Given the description of an element on the screen output the (x, y) to click on. 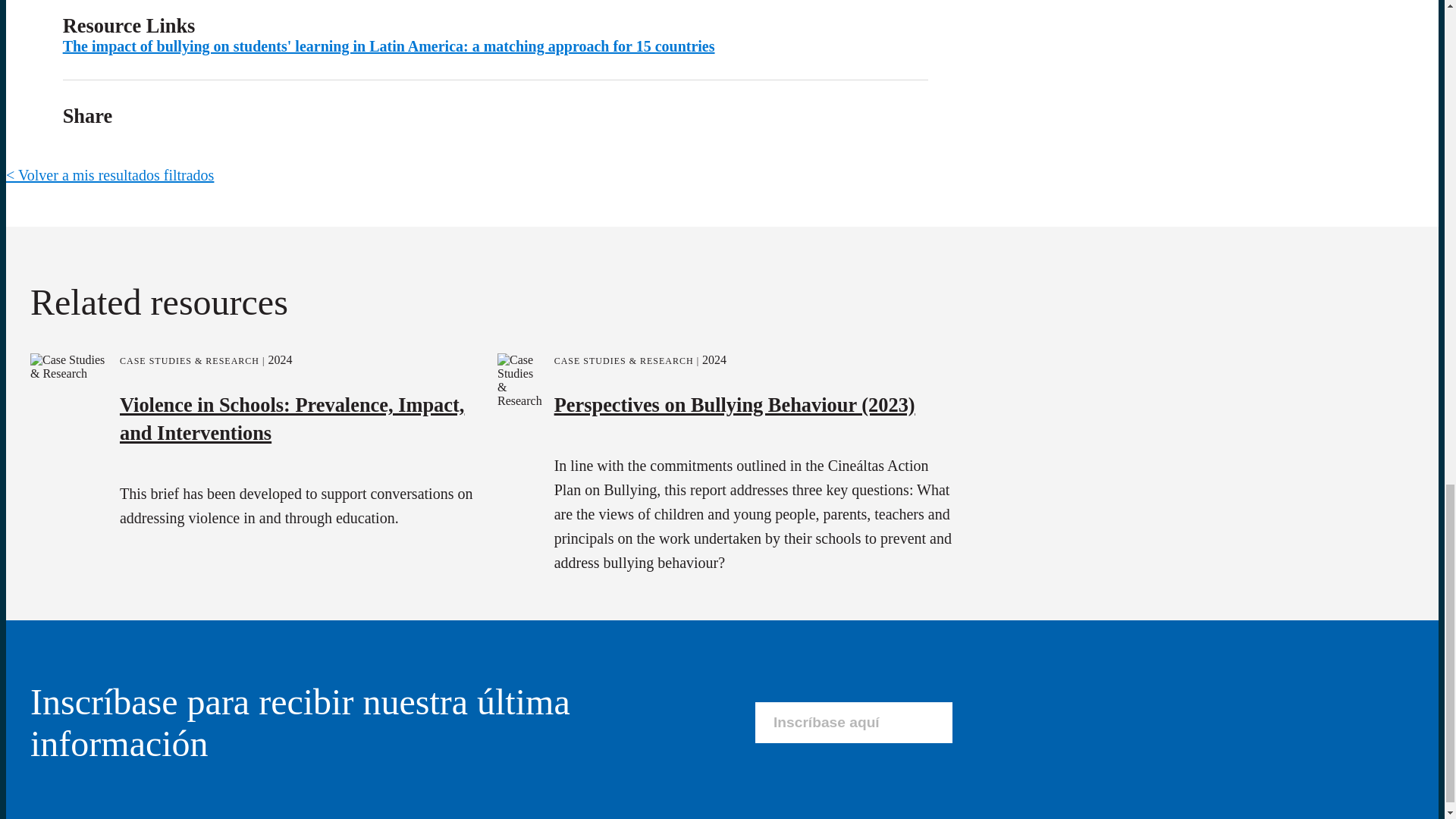
Violence in Schools: Prevalence, Impact, and Interventions (291, 417)
